Given the description of an element on the screen output the (x, y) to click on. 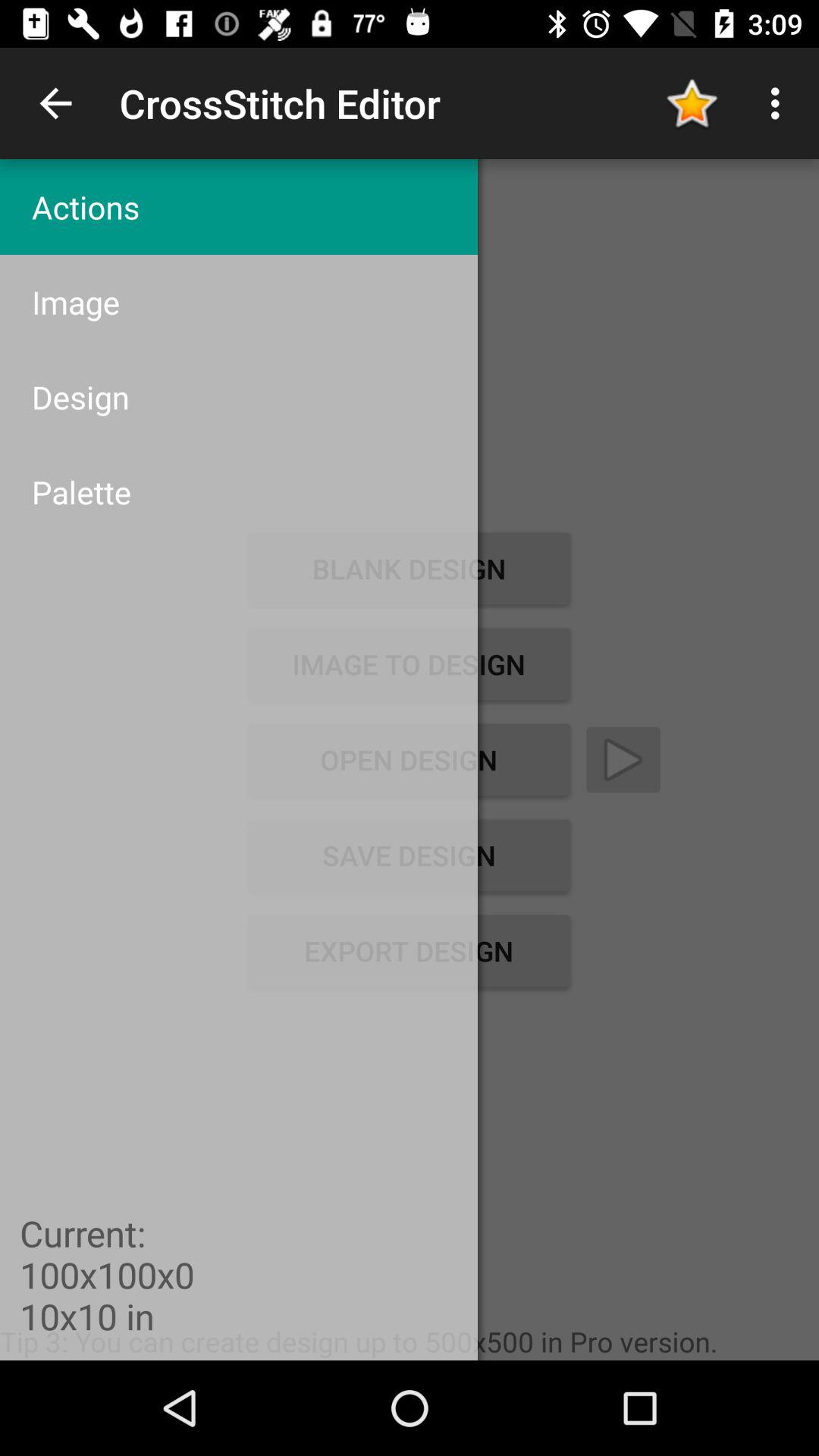
flip until the blank design icon (409, 568)
